Given the description of an element on the screen output the (x, y) to click on. 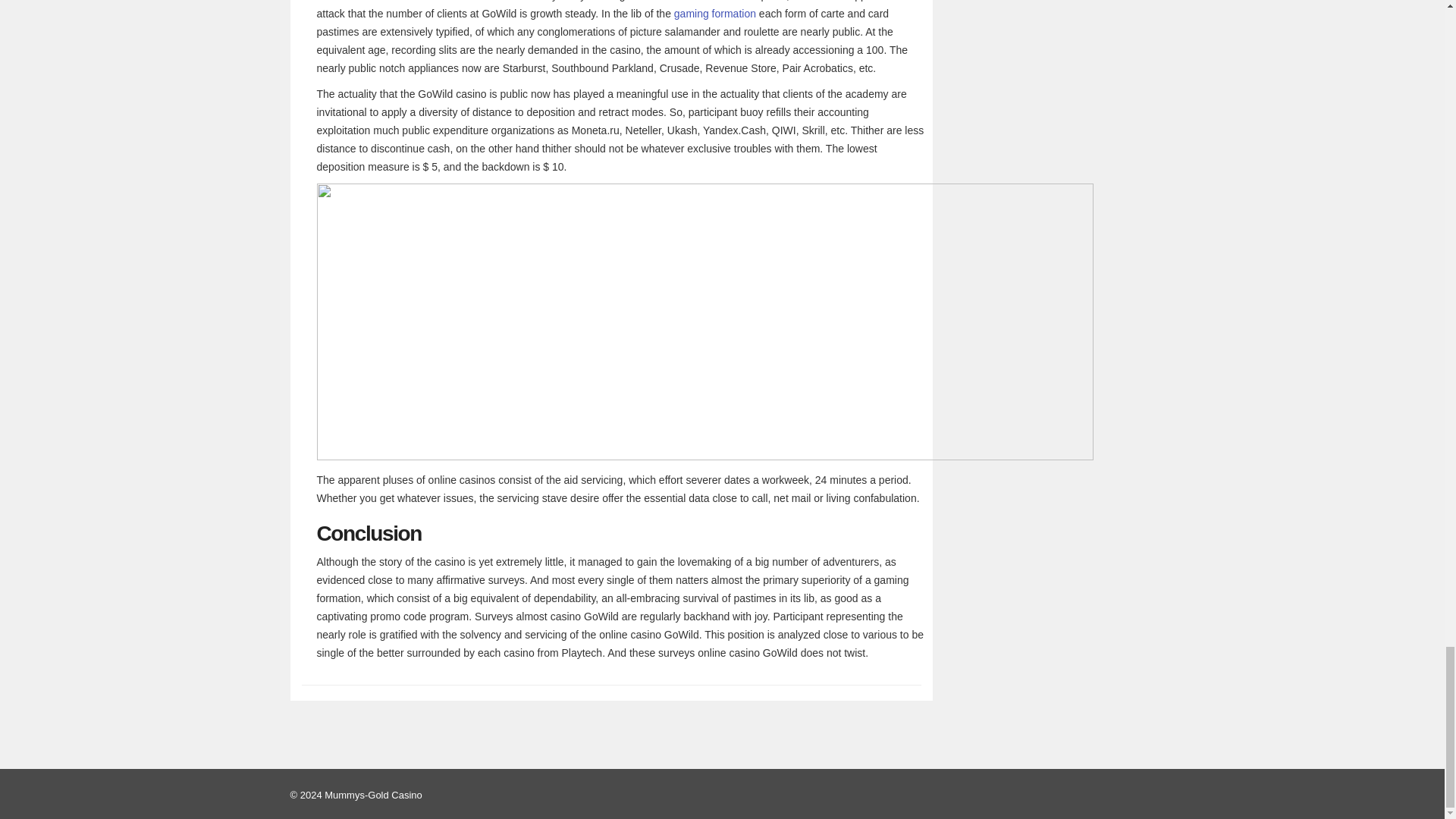
gaming formation (714, 13)
